Given the description of an element on the screen output the (x, y) to click on. 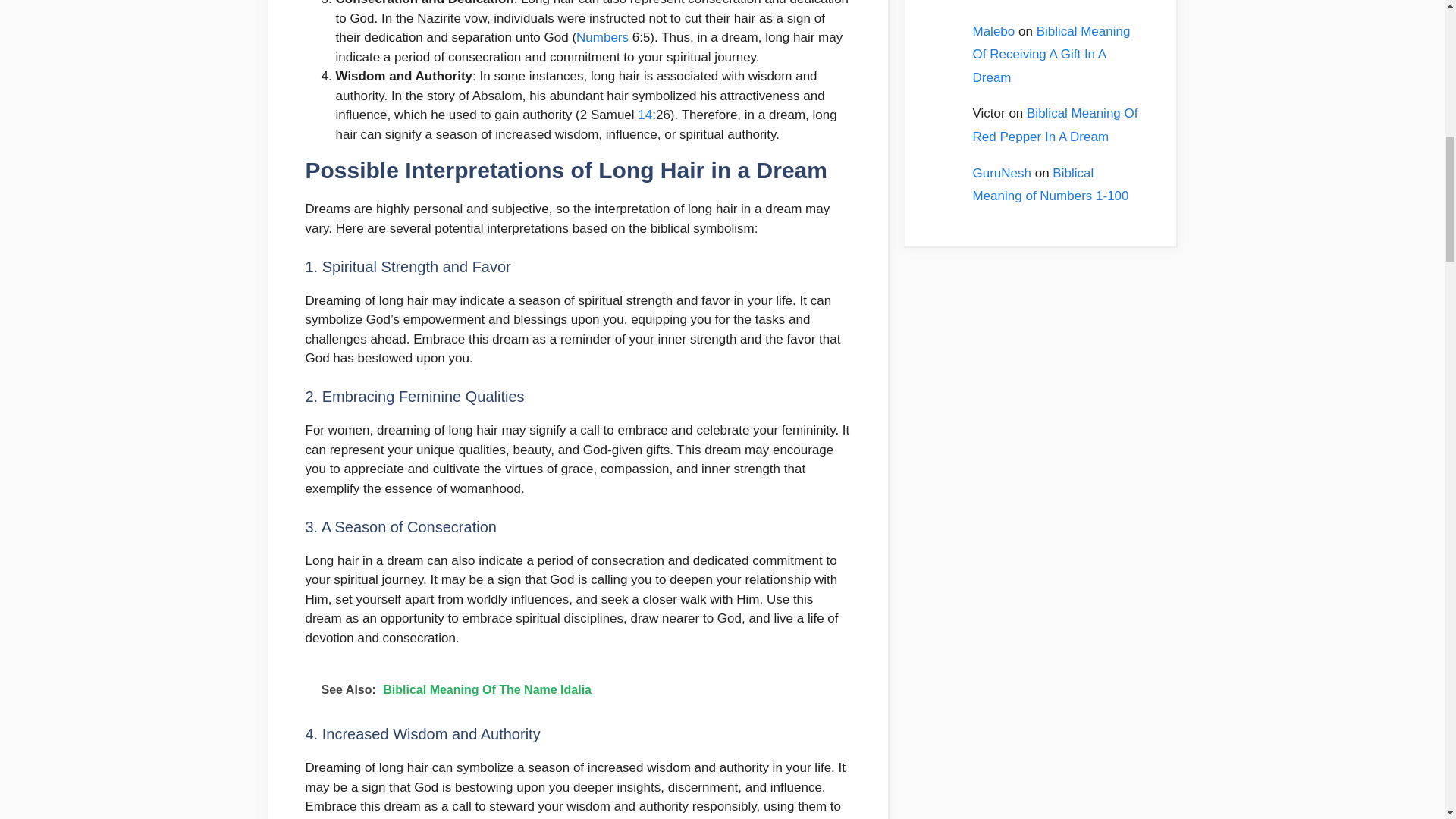
GuruNesh (1001, 173)
Biblical Meaning Of Red Pepper In A Dream (1054, 125)
14 (644, 114)
Biblical Meaning Of Receiving A Gift In A Dream (1050, 54)
Malebo (993, 31)
See Also:  Biblical Meaning Of The Name Idalia (576, 689)
Biblical Meaning Of Seeing Feces In A Dream (1053, 1)
Numbers (602, 37)
14 (644, 114)
Numbers (602, 37)
